Given the description of an element on the screen output the (x, y) to click on. 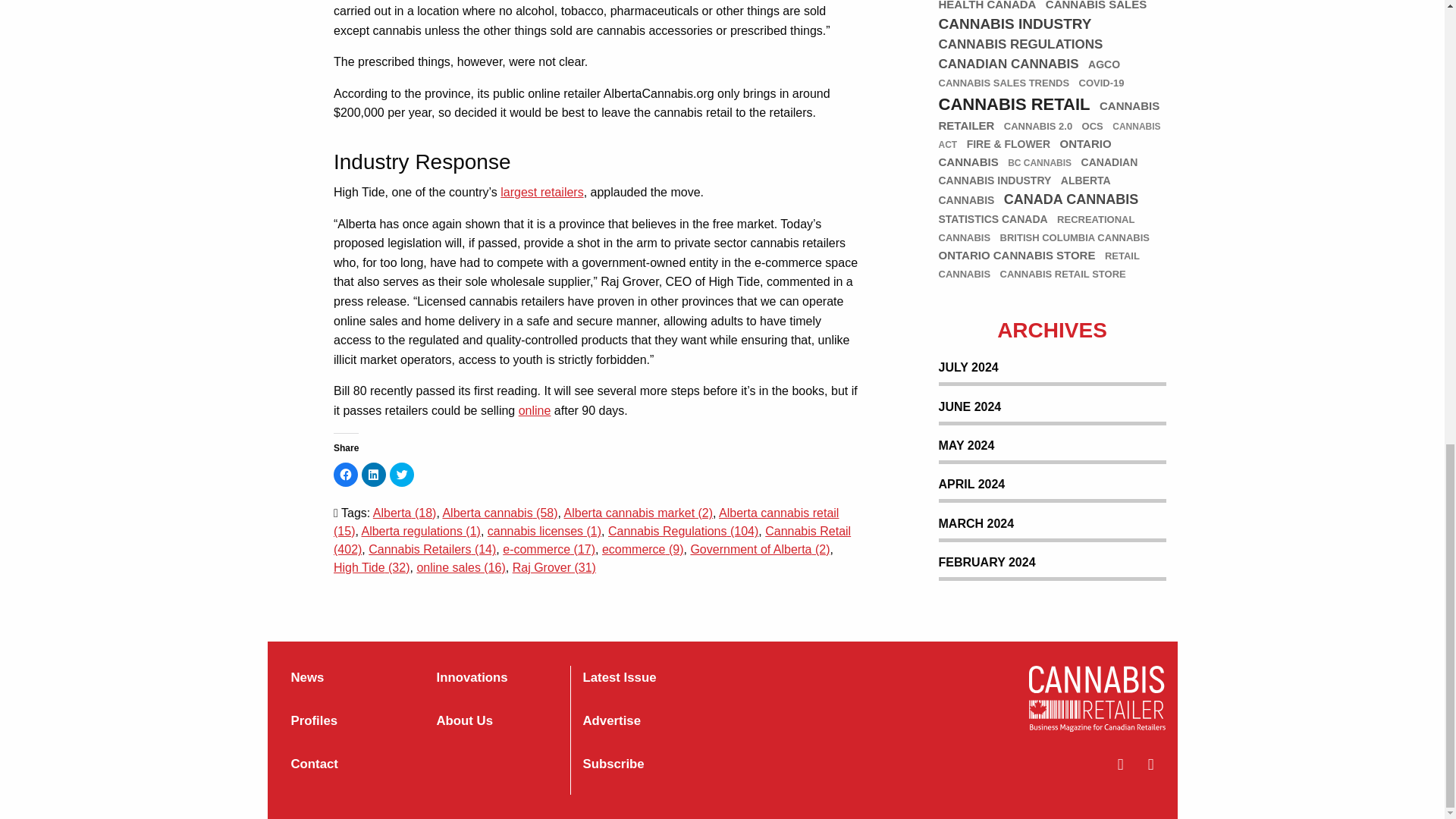
online (534, 410)
largest retailers (541, 192)
Click to share on Facebook (345, 474)
Click to share on LinkedIn (373, 474)
Click to share on Twitter (401, 474)
